Given the description of an element on the screen output the (x, y) to click on. 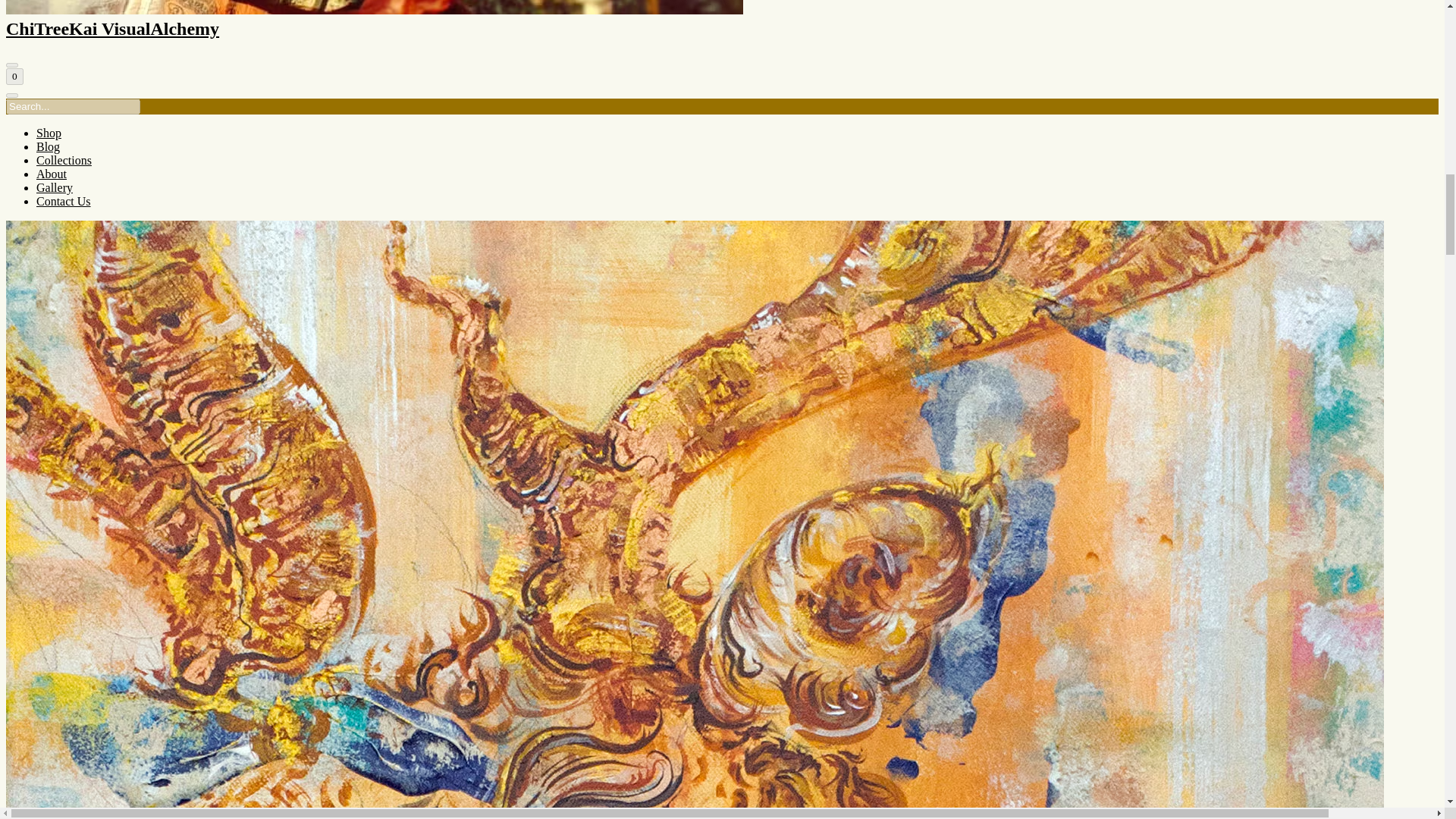
Contact Us (63, 201)
About (51, 173)
ChiTreeKai VisualAlchemy (721, 19)
Gallery (54, 187)
Shop (48, 132)
Collections (63, 160)
Blog (47, 146)
0 (14, 76)
